Given the description of an element on the screen output the (x, y) to click on. 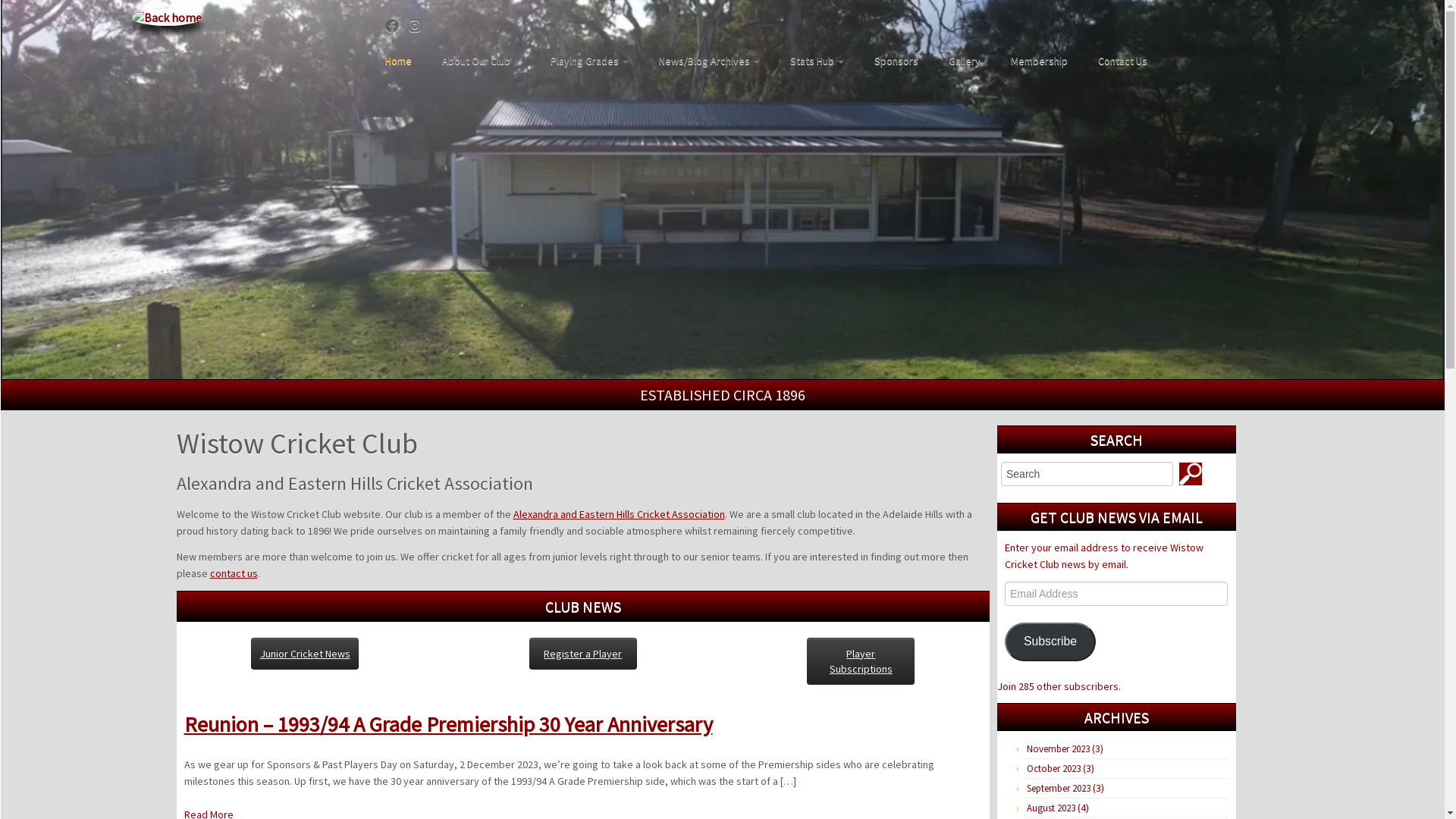
contact us Element type: text (233, 573)
Alexandra and Eastern Hills Cricket Association Element type: text (618, 513)
September 2023 Element type: text (1058, 787)
Player Subscriptions Element type: text (860, 660)
October 2023 Element type: text (1053, 768)
Stats Hub Element type: text (817, 60)
Membership Element type: text (1038, 60)
Junior Cricket News Element type: text (304, 653)
About Our Club Element type: text (480, 60)
November 2023 Element type: text (1057, 748)
Follow me on Facebook Element type: hover (396, 25)
Playing Grades Element type: text (589, 60)
Home Element type: text (403, 60)
Sponsors Element type: text (896, 60)
Contact Us Element type: text (1114, 60)
Register a Player Element type: text (583, 653)
News/Blog Archives Element type: text (709, 60)
August 2023 Element type: text (1050, 807)
Follow us on Instagram Element type: hover (419, 25)
Subscribe Element type: text (1049, 641)
Gallery Element type: text (964, 60)
